Given the description of an element on the screen output the (x, y) to click on. 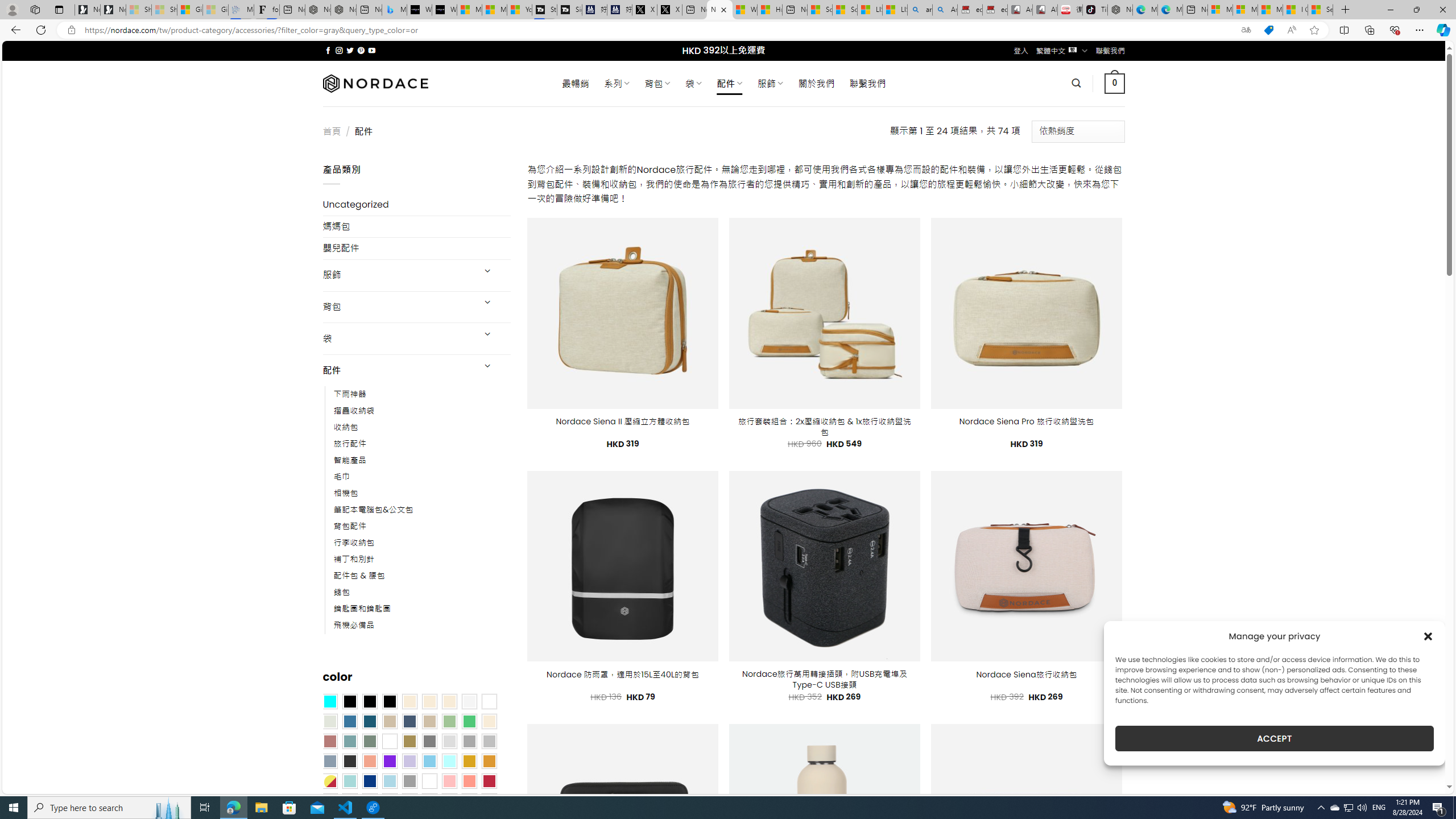
ACCEPT (1274, 738)
This site has coupons! Shopping in Microsoft Edge (1268, 29)
All Cubot phones (1044, 9)
